Given the description of an element on the screen output the (x, y) to click on. 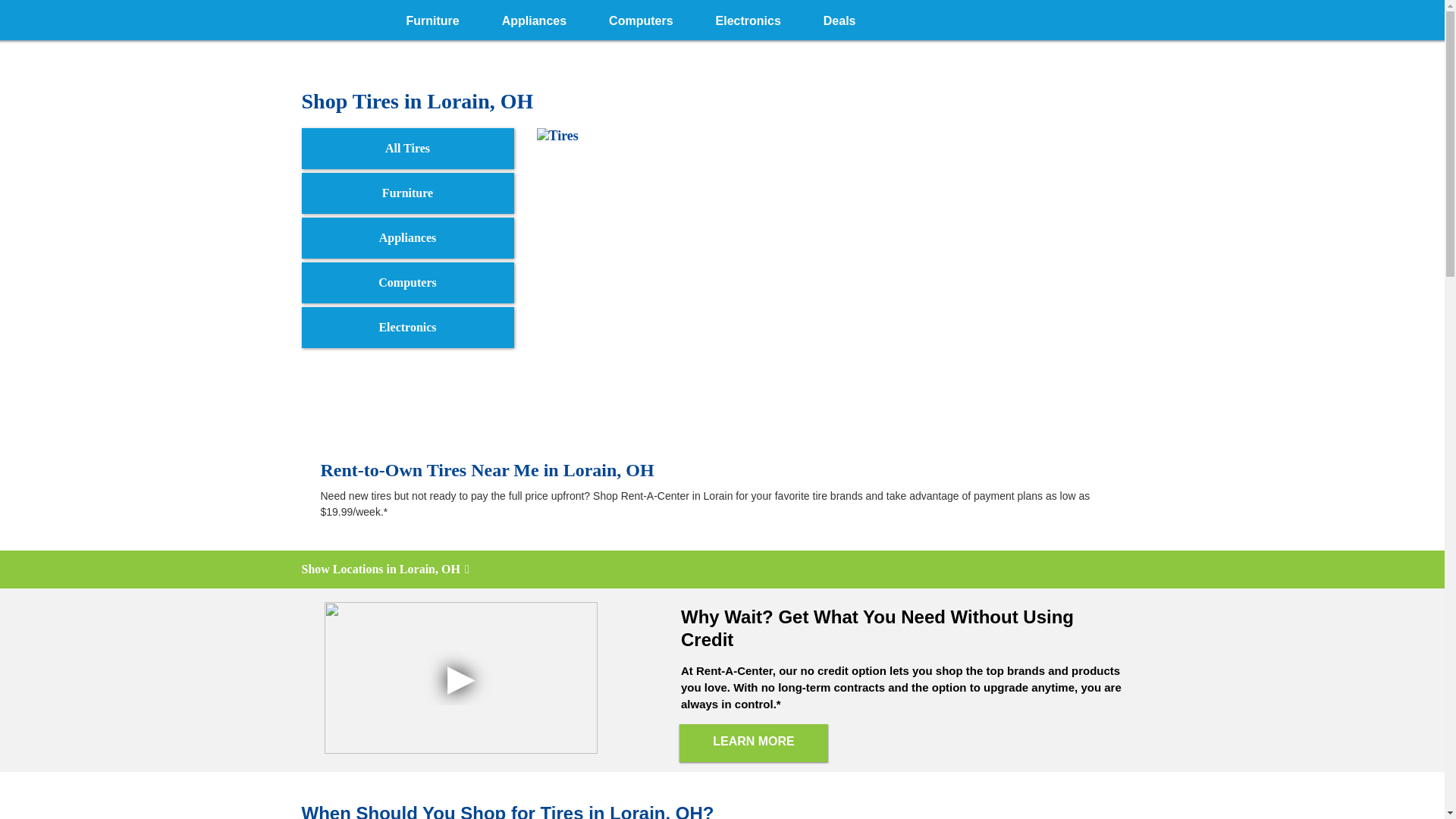
Show Locations in Lorain, OH (722, 569)
Electronics (748, 18)
Computers (641, 18)
Appliances (407, 237)
All Tires (407, 147)
Furniture (407, 192)
LEARN MORE (753, 742)
Deals (839, 18)
Furniture (432, 18)
Appliances (534, 18)
